Given the description of an element on the screen output the (x, y) to click on. 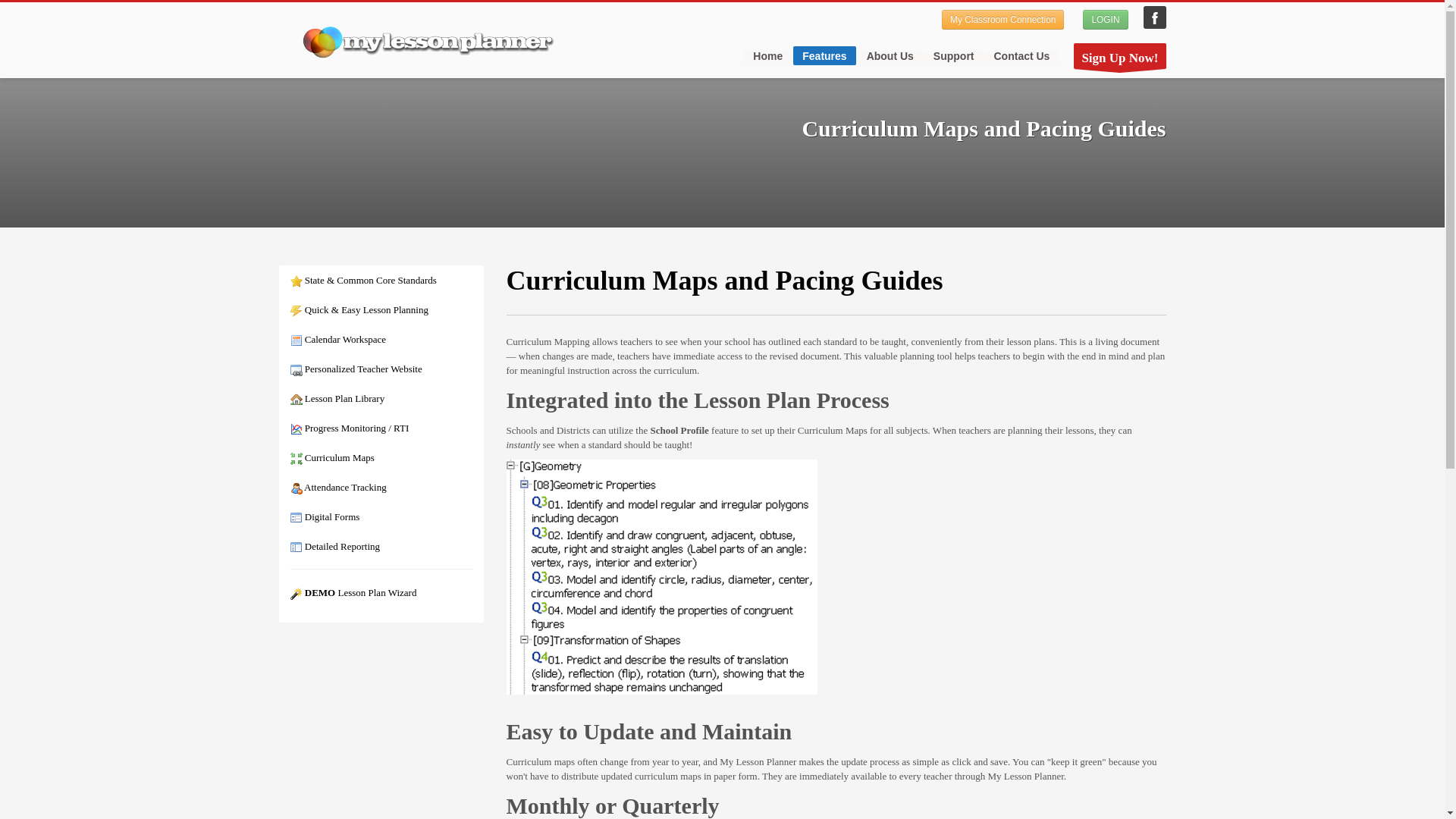
Attendance Tracking (337, 487)
My Lesson Planner (1154, 16)
About Us (890, 55)
Detailed Reporting (334, 546)
Sign Up Now! (1120, 55)
Calendar Workspace (337, 338)
Features (824, 55)
Contact Us (1021, 55)
Sign Up Now! (1120, 55)
Home (768, 55)
